Given the description of an element on the screen output the (x, y) to click on. 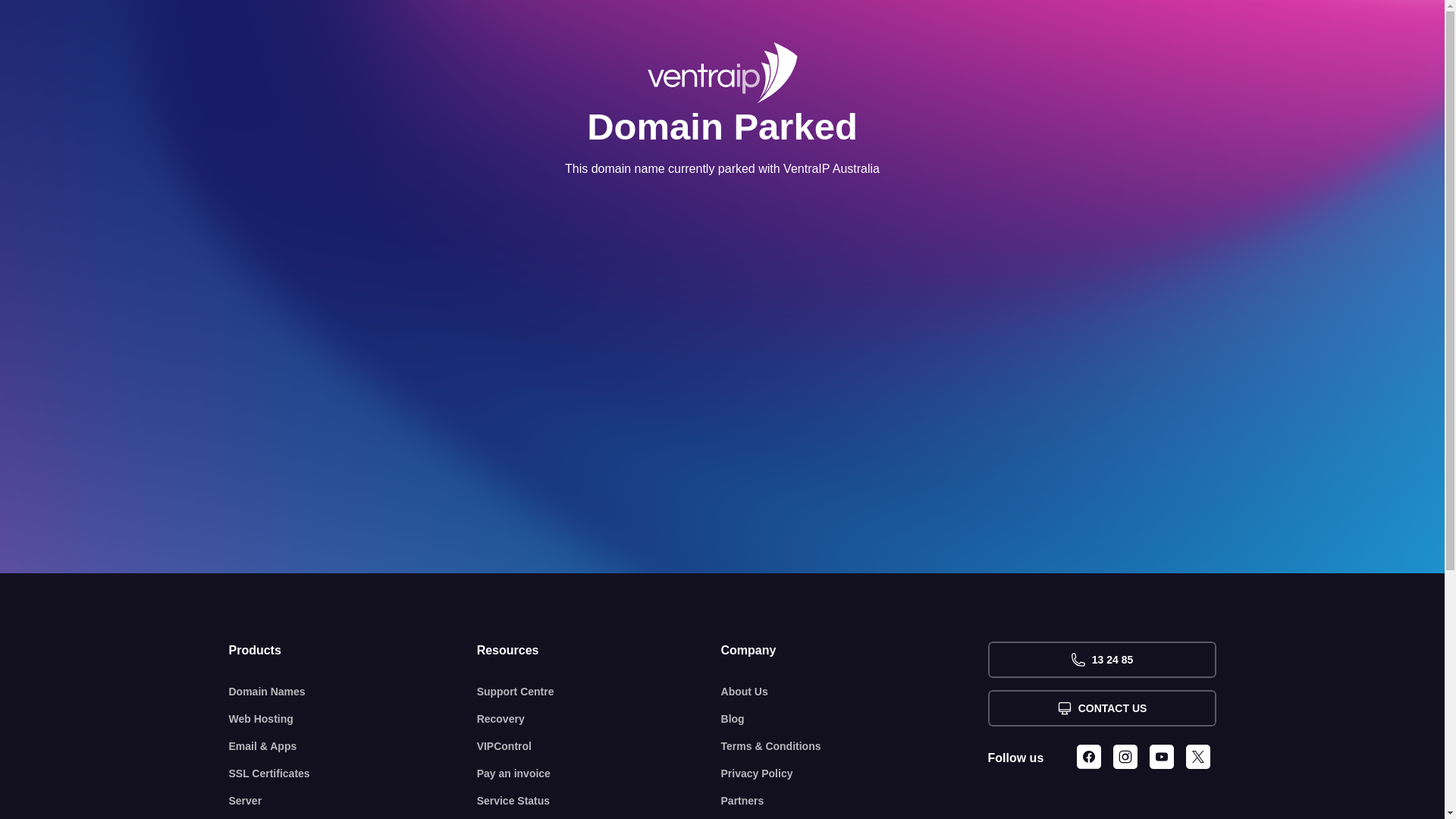
SSL Certificates Element type: text (352, 773)
Server Element type: text (352, 800)
VIPControl Element type: text (598, 745)
Email & Apps Element type: text (352, 745)
About Us Element type: text (854, 691)
Terms & Conditions Element type: text (854, 745)
Blog Element type: text (854, 718)
CONTACT US Element type: text (1101, 708)
Web Hosting Element type: text (352, 718)
Support Centre Element type: text (598, 691)
13 24 85 Element type: text (1101, 659)
Service Status Element type: text (598, 800)
Partners Element type: text (854, 800)
Pay an invoice Element type: text (598, 773)
Recovery Element type: text (598, 718)
Privacy Policy Element type: text (854, 773)
Domain Names Element type: text (352, 691)
